Given the description of an element on the screen output the (x, y) to click on. 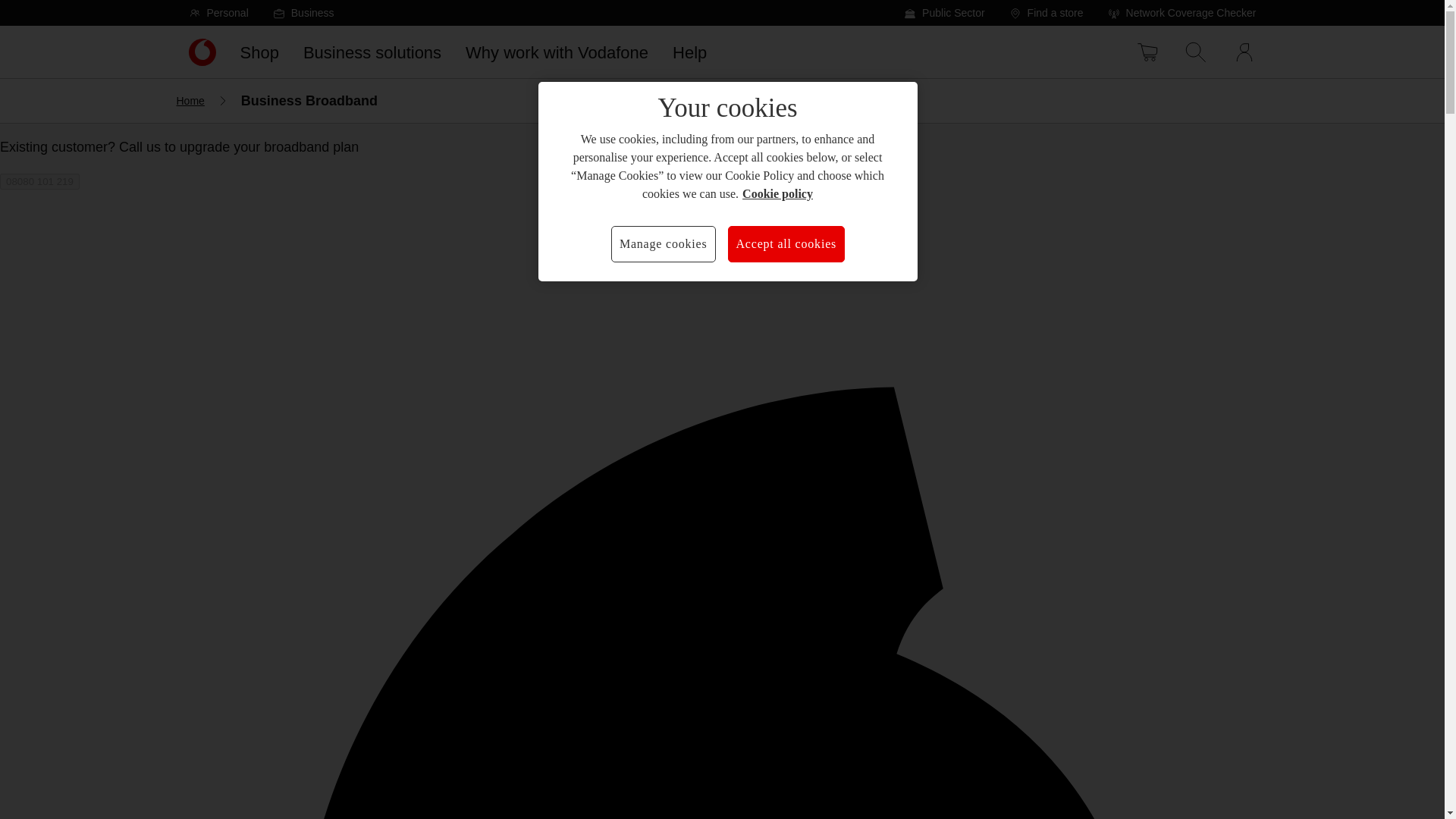
Business solutions (371, 51)
Personal (218, 12)
Find a store (1046, 12)
Shop (258, 51)
Business (303, 12)
Network Coverage Checker (1182, 12)
Public Sector (943, 12)
